Given the description of an element on the screen output the (x, y) to click on. 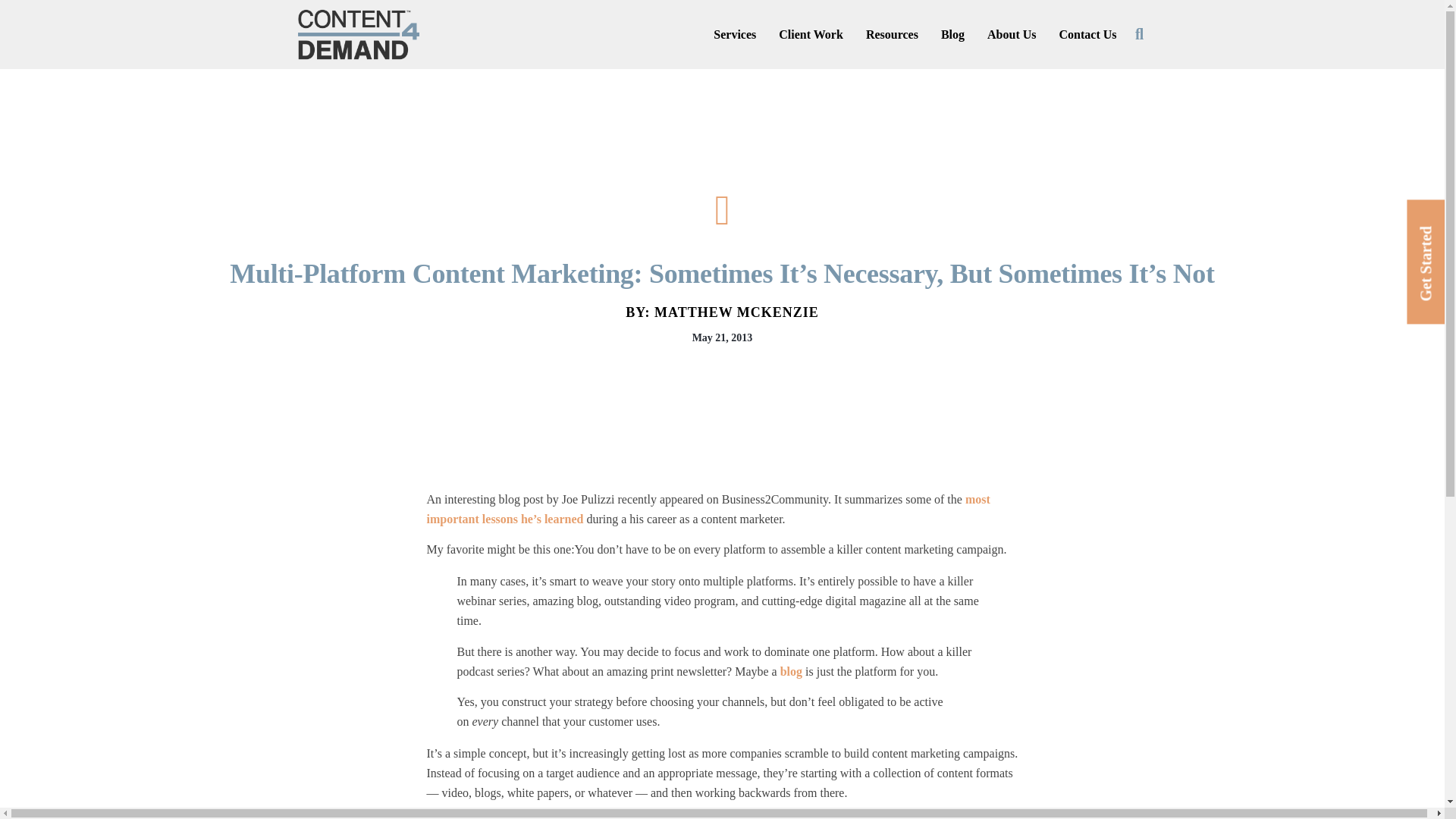
Resources (892, 34)
blog (791, 671)
BY: MATTHEW MCKENZIE (722, 312)
Contact Us (1087, 34)
Blog (951, 34)
About Us (1011, 34)
Services (734, 34)
May 21, 2013 (722, 338)
Client Work (810, 34)
